Given the description of an element on the screen output the (x, y) to click on. 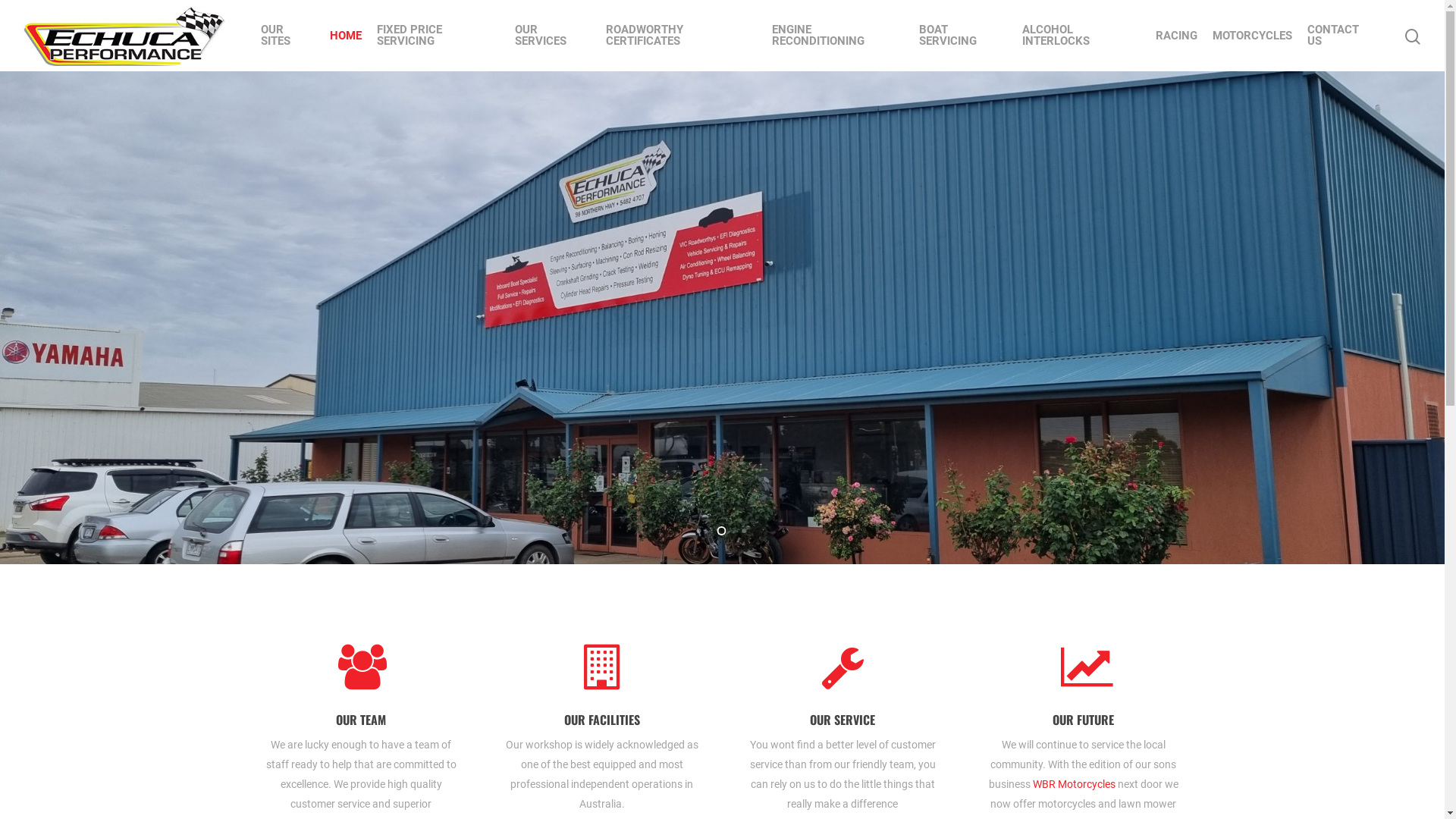
ALCOHOL INTERLOCKS Element type: text (1081, 35)
CONTACT US Element type: text (1340, 35)
FIXED PRICE SERVICING Element type: text (438, 35)
OUR SITES Element type: text (287, 35)
MOTORCYCLES Element type: text (1251, 35)
BOAT SERVICING Element type: text (962, 35)
WBR Motorcycles Element type: text (1073, 784)
OUR SERVICES Element type: text (552, 35)
ENGINE RECONDITIONING Element type: text (837, 35)
ROADWORTHY CERTIFICATES Element type: text (681, 35)
RACING Element type: text (1176, 35)
HOME Element type: text (345, 35)
